Given the description of an element on the screen output the (x, y) to click on. 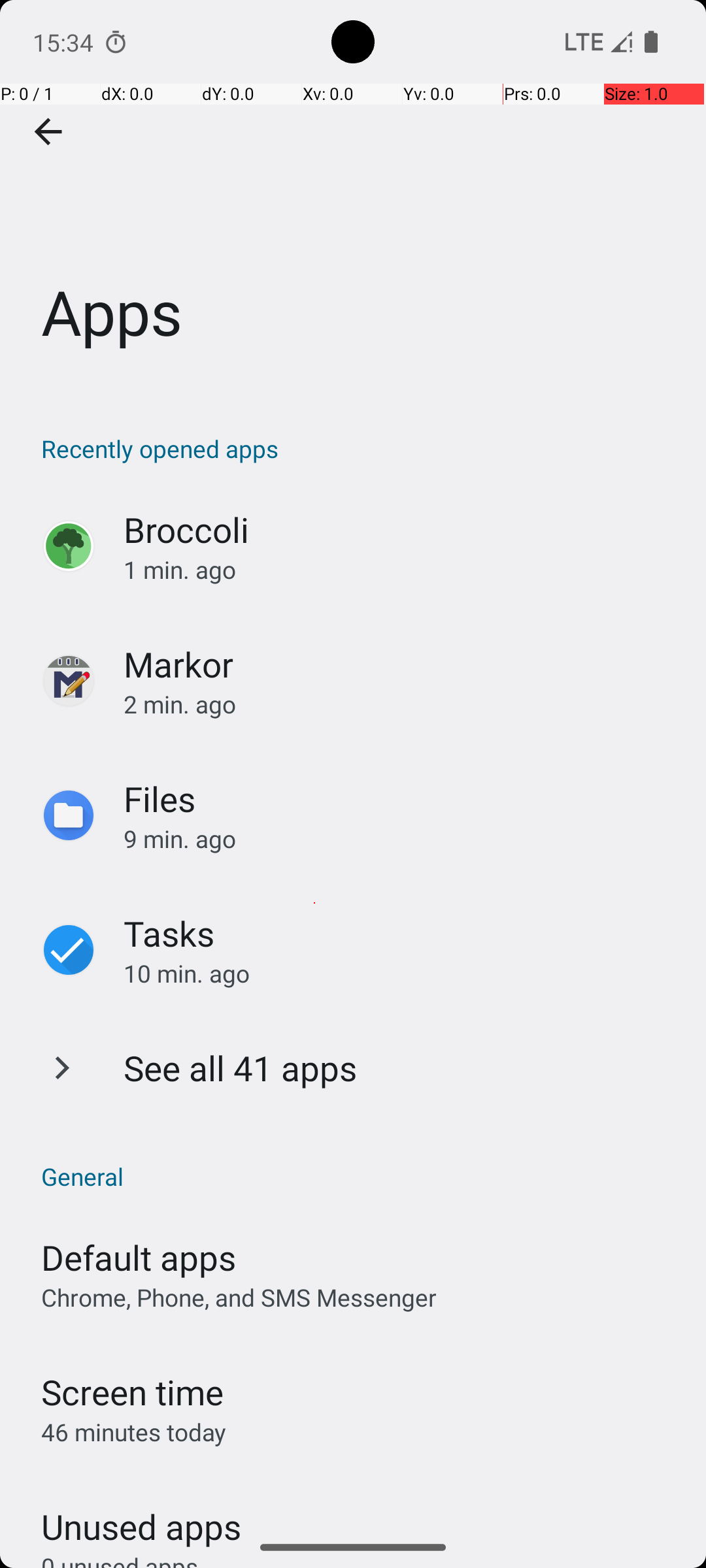
Recently opened apps Element type: android.widget.TextView (359, 448)
1 min. ago Element type: android.widget.TextView (400, 569)
2 min. ago Element type: android.widget.TextView (400, 703)
9 min. ago Element type: android.widget.TextView (400, 838)
10 min. ago Element type: android.widget.TextView (400, 972)
See all 41 apps Element type: android.widget.TextView (239, 1067)
Default apps Element type: android.widget.TextView (138, 1257)
Chrome, Phone, and SMS Messenger Element type: android.widget.TextView (238, 1296)
46 minutes today Element type: android.widget.TextView (133, 1431)
Unused apps Element type: android.widget.TextView (141, 1514)
